Given the description of an element on the screen output the (x, y) to click on. 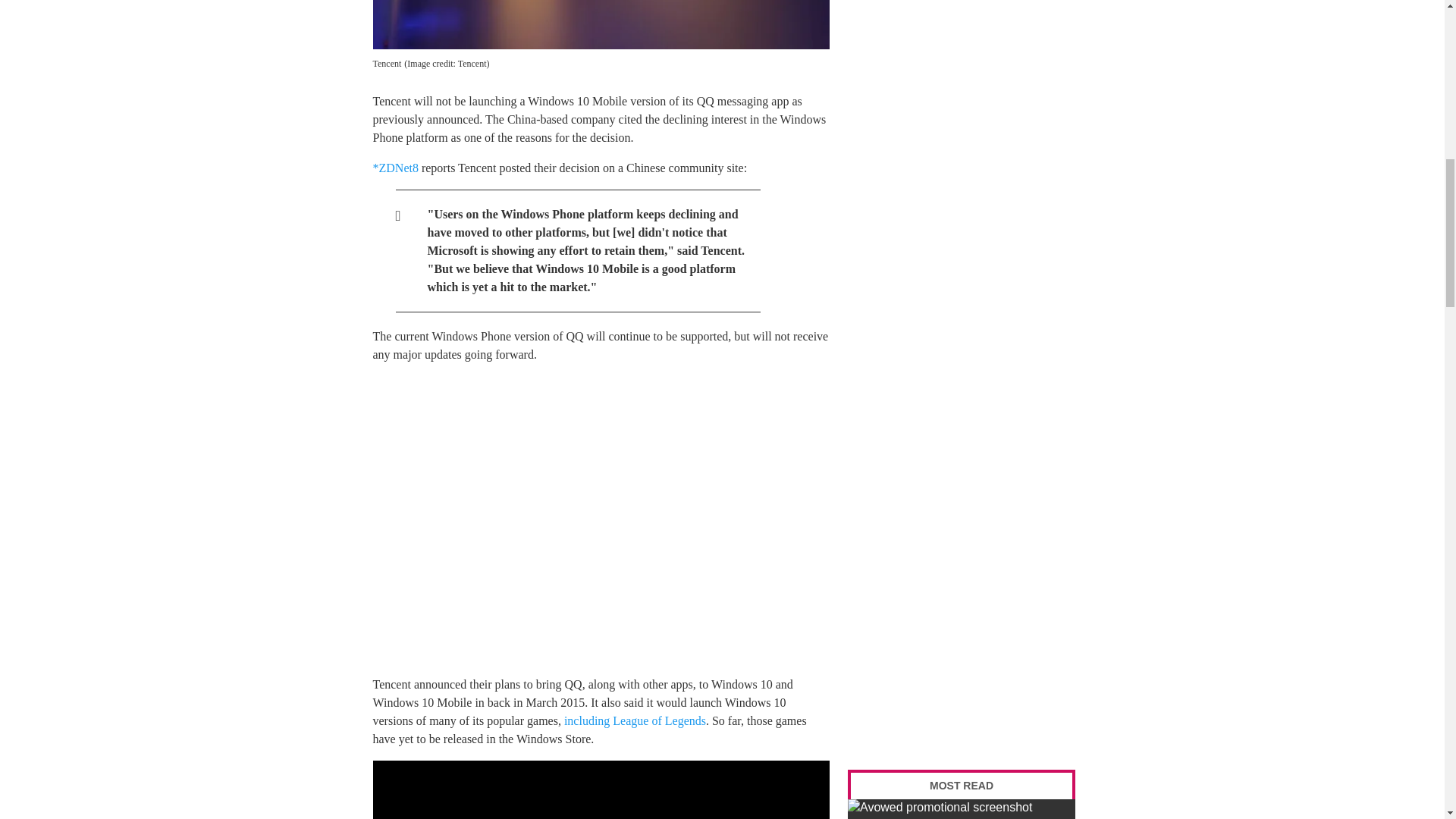
including League of Legends (635, 720)
